Given the description of an element on the screen output the (x, y) to click on. 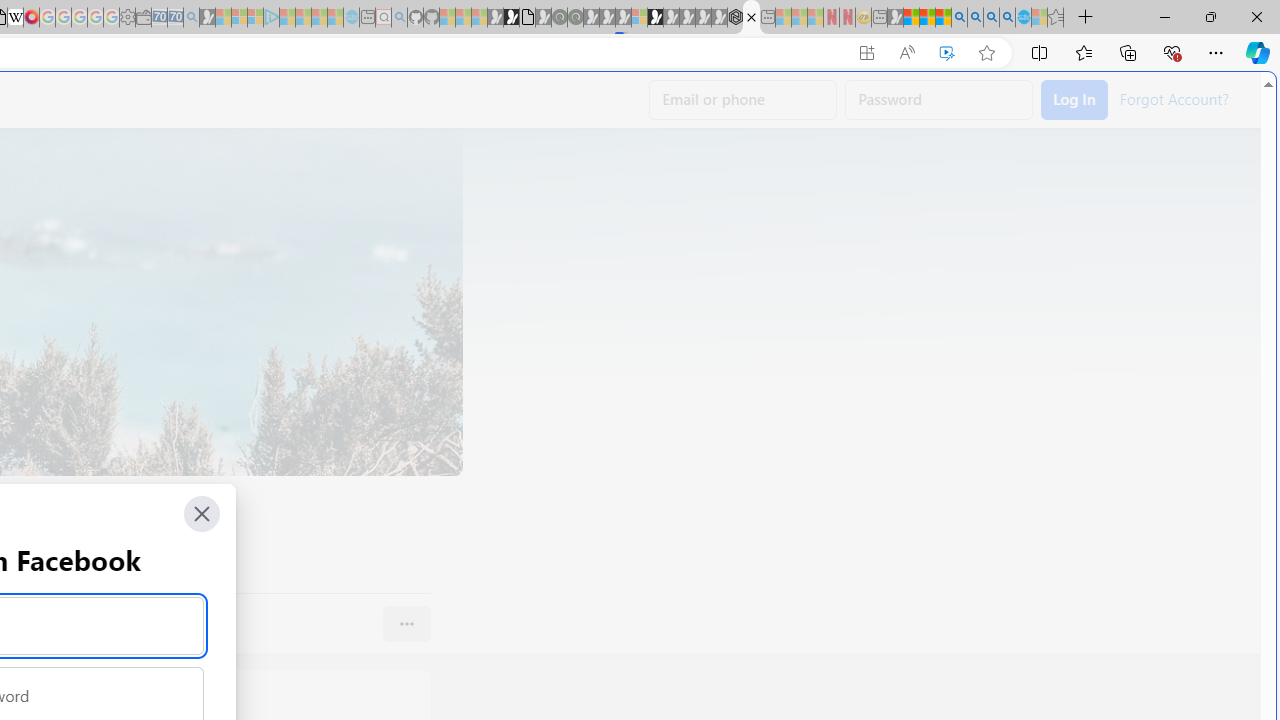
github - Search - Sleeping (399, 17)
